Given the description of an element on the screen output the (x, y) to click on. 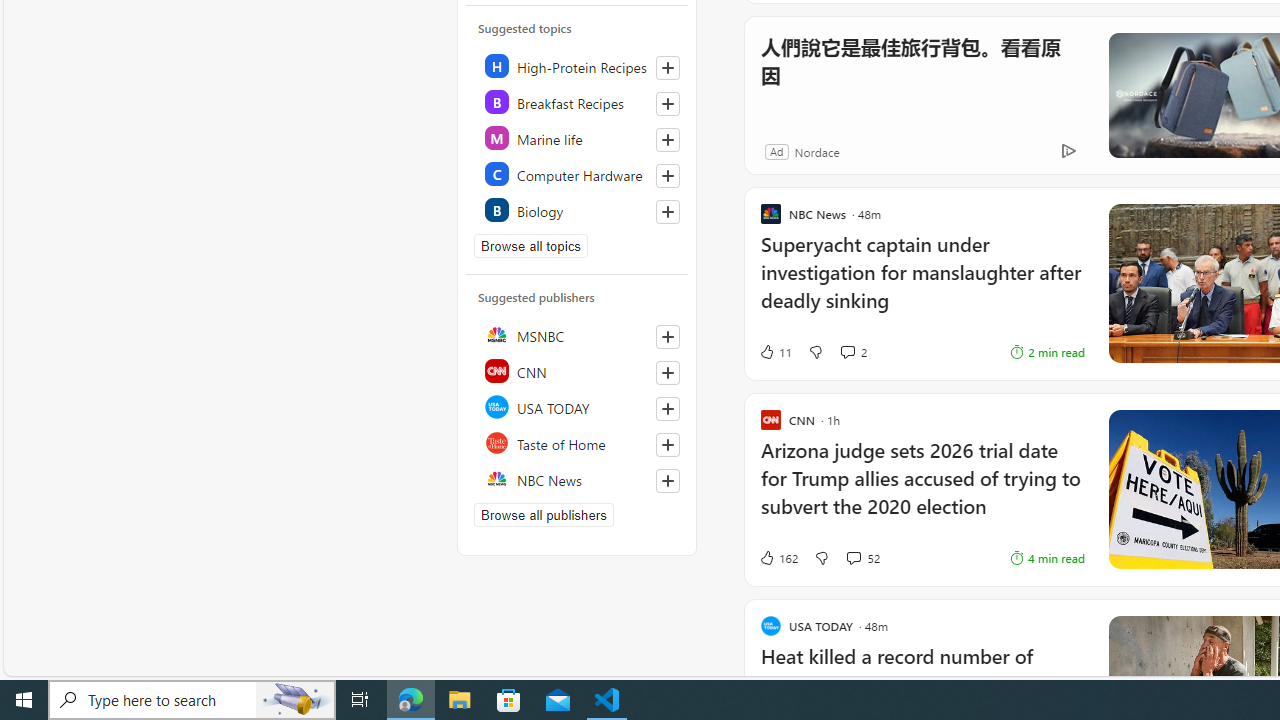
Nordace (816, 151)
Follow this source (667, 480)
View comments 52 Comment (862, 557)
Heat killed a record number of Americans last year (922, 681)
View comments 52 Comment (852, 557)
Browse all topics (530, 245)
CNN (578, 370)
Ad Choice (1068, 151)
Taste of Home (578, 442)
Follow this topic (667, 211)
NBC News (578, 478)
View comments 2 Comment (852, 351)
Class: highlight (578, 209)
